Given the description of an element on the screen output the (x, y) to click on. 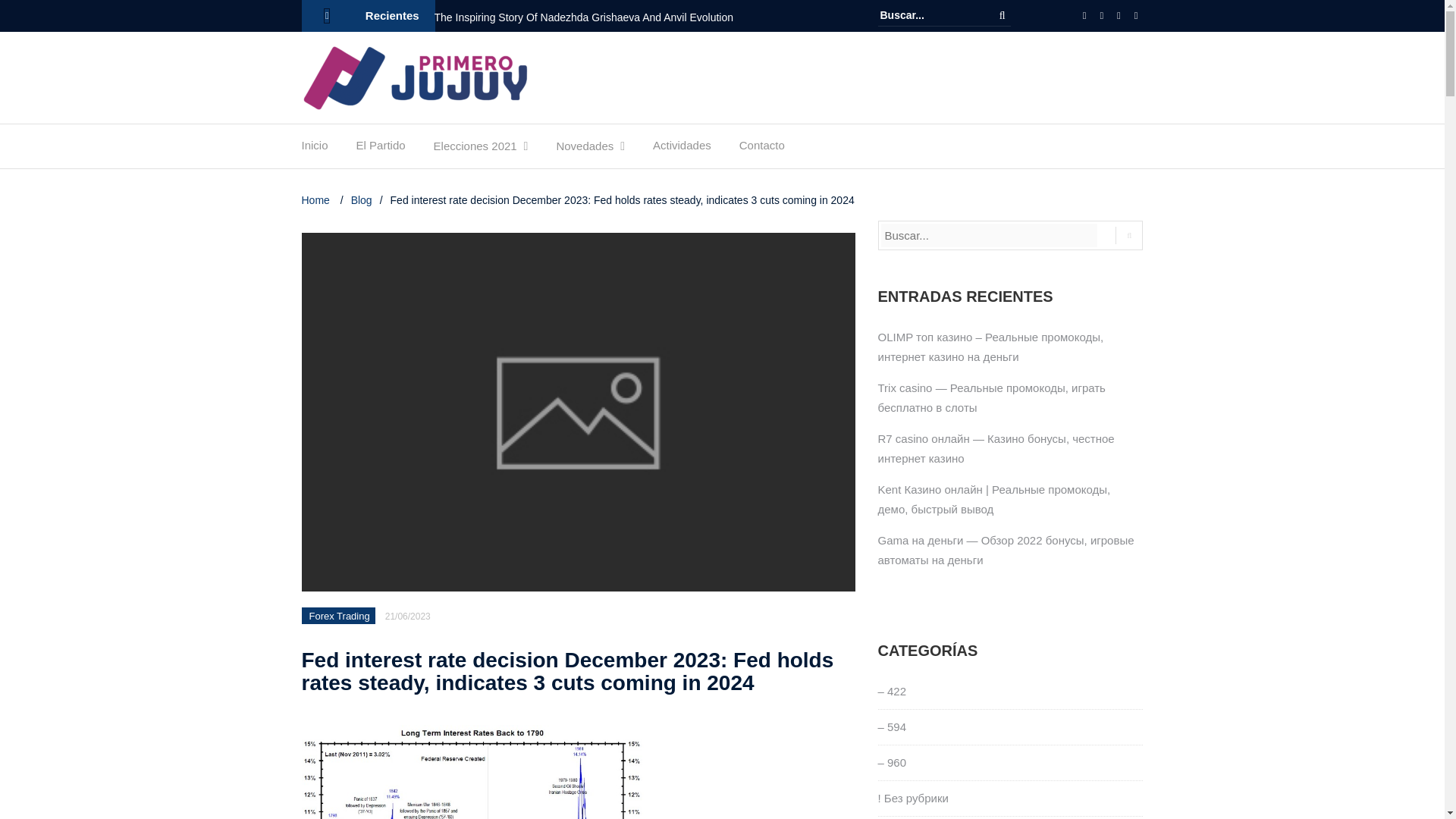
Elecciones 2021 (474, 149)
El Partido (381, 148)
Buscar   (1002, 14)
Novedades (584, 149)
Inicio (315, 148)
